Given the description of an element on the screen output the (x, y) to click on. 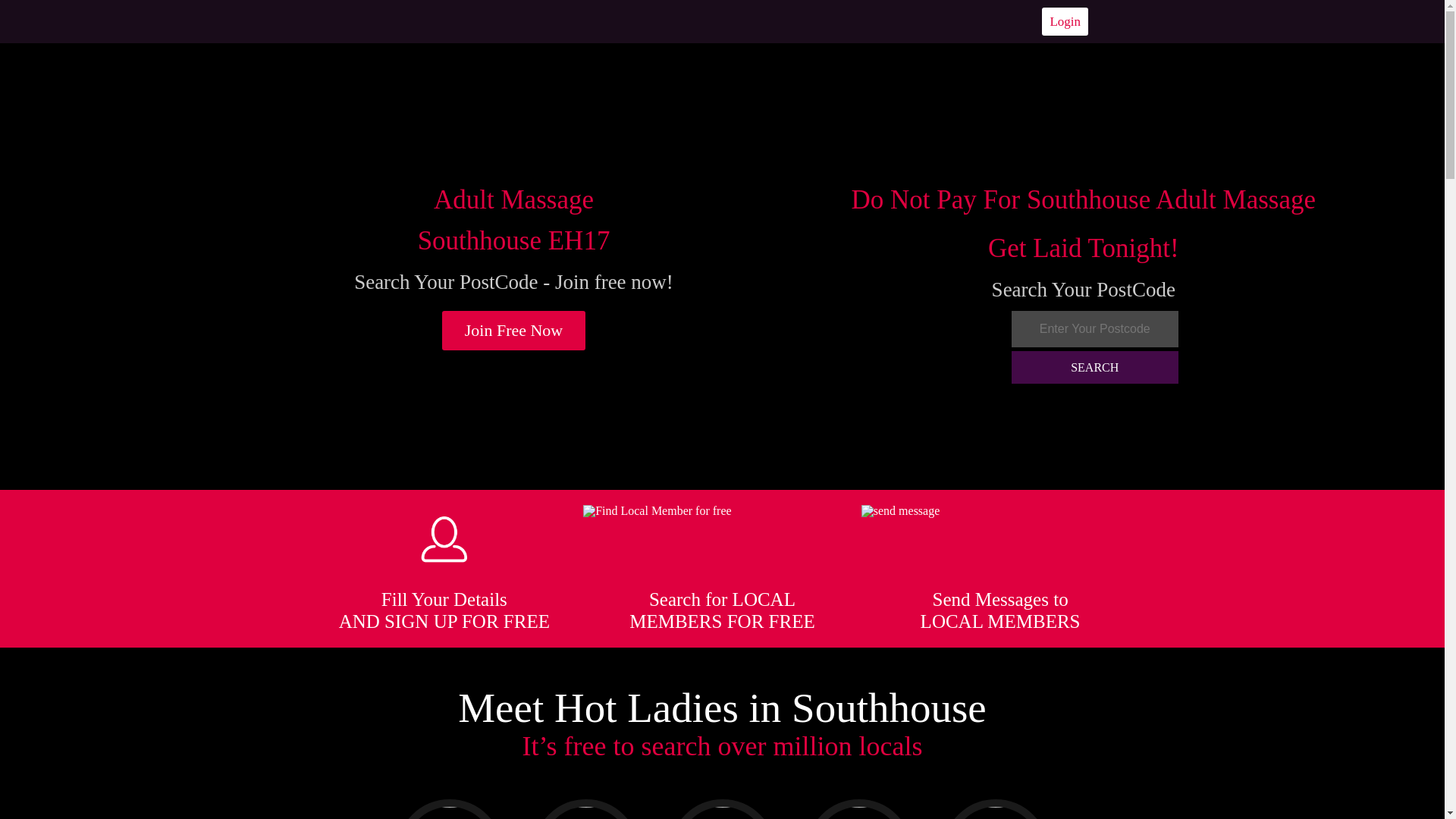
SEARCH (1094, 367)
Login (1064, 21)
Login (1064, 21)
Join (514, 330)
Join Free Now (514, 330)
